Given the description of an element on the screen output the (x, y) to click on. 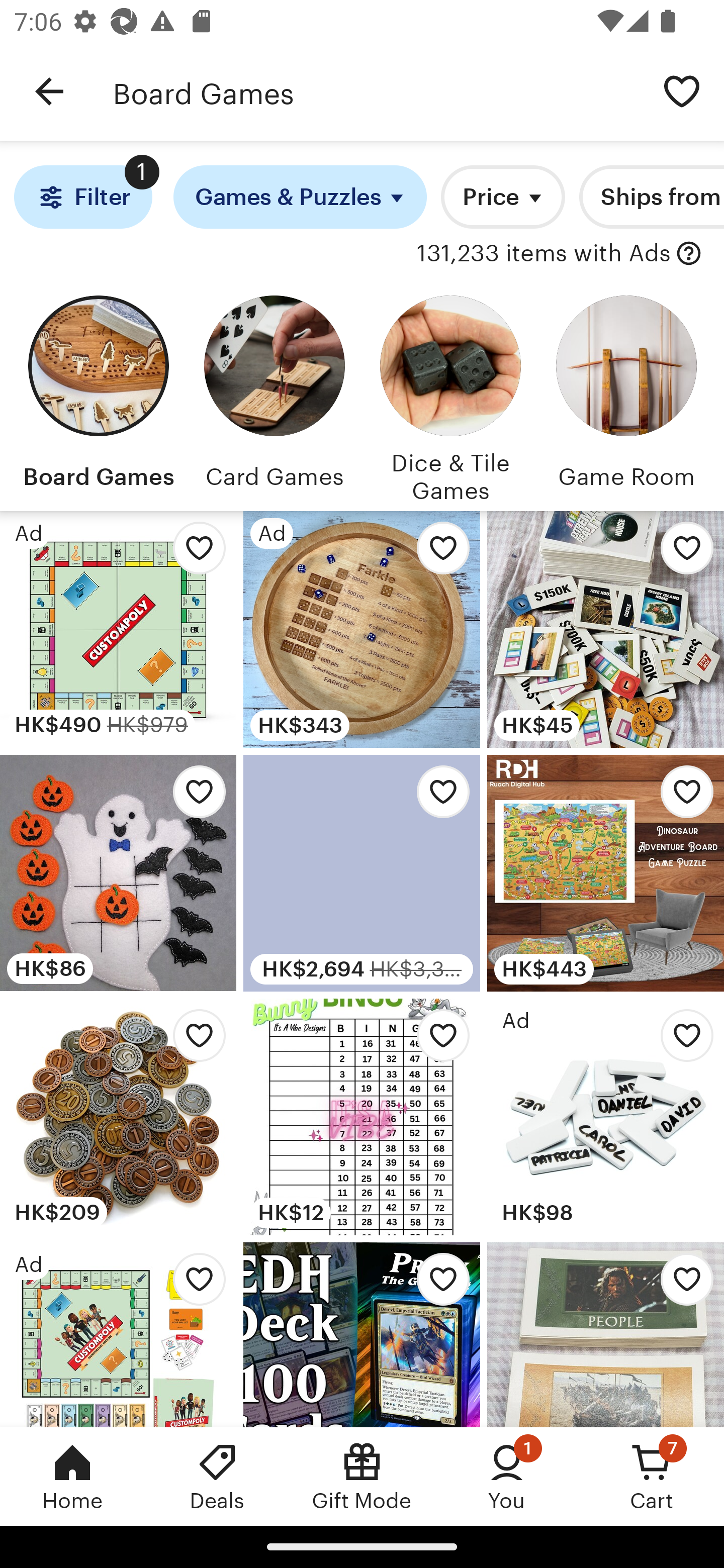
Navigate up (49, 91)
Save search (681, 90)
Board Games (375, 91)
Filter (82, 197)
Games & Puzzles (300, 197)
Price (502, 197)
Ships from (651, 197)
131,233 items with Ads (544, 253)
with Ads (688, 253)
Board Games (97, 395)
Card Games (273, 395)
Dice & Tile Games (449, 395)
Game Room (625, 395)
Add Bugs Bunny Bingo to favorites (438, 1040)
Deals (216, 1475)
Gift Mode (361, 1475)
You, 1 new notification You (506, 1475)
Cart, 7 new notifications Cart (651, 1475)
